Given the description of an element on the screen output the (x, y) to click on. 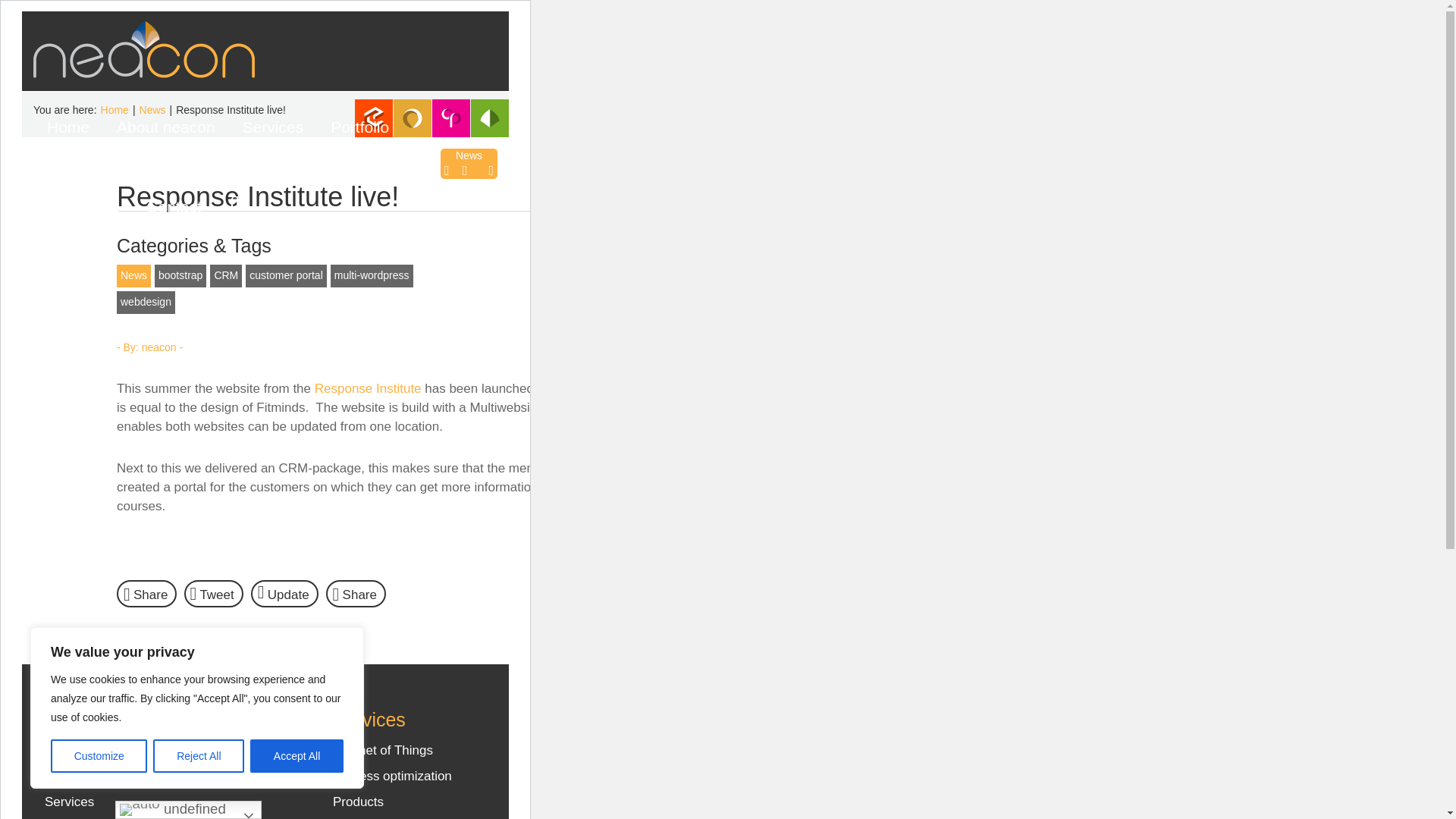
News (152, 110)
Vacancies (82, 206)
Response Institute live! (230, 110)
Portfolio (359, 126)
Home (67, 126)
Reject All (198, 756)
Services (273, 126)
Accept All (296, 756)
Customize (98, 756)
About neacon (165, 126)
